Given the description of an element on the screen output the (x, y) to click on. 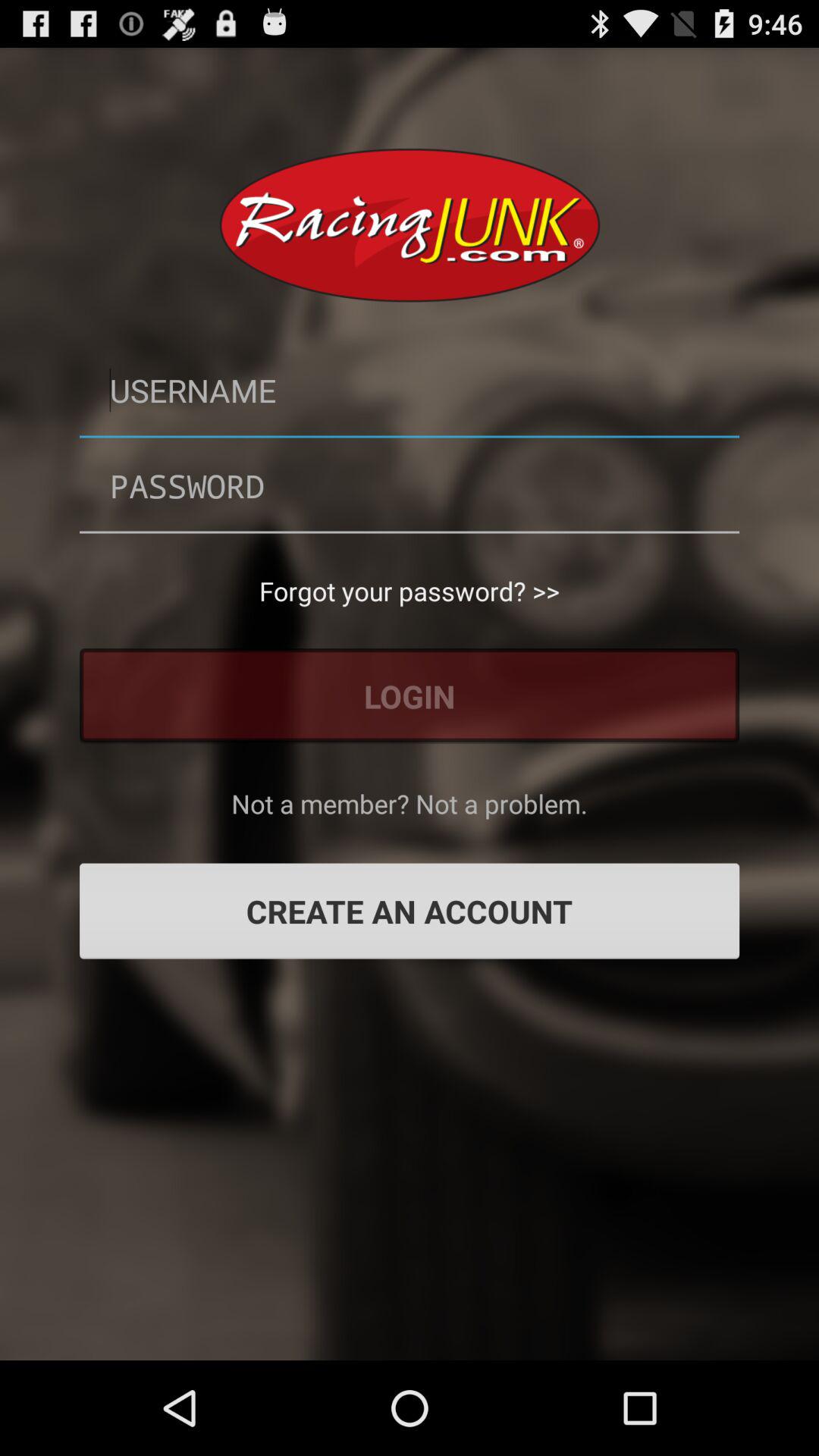
swipe until the login button (409, 695)
